Given the description of an element on the screen output the (x, y) to click on. 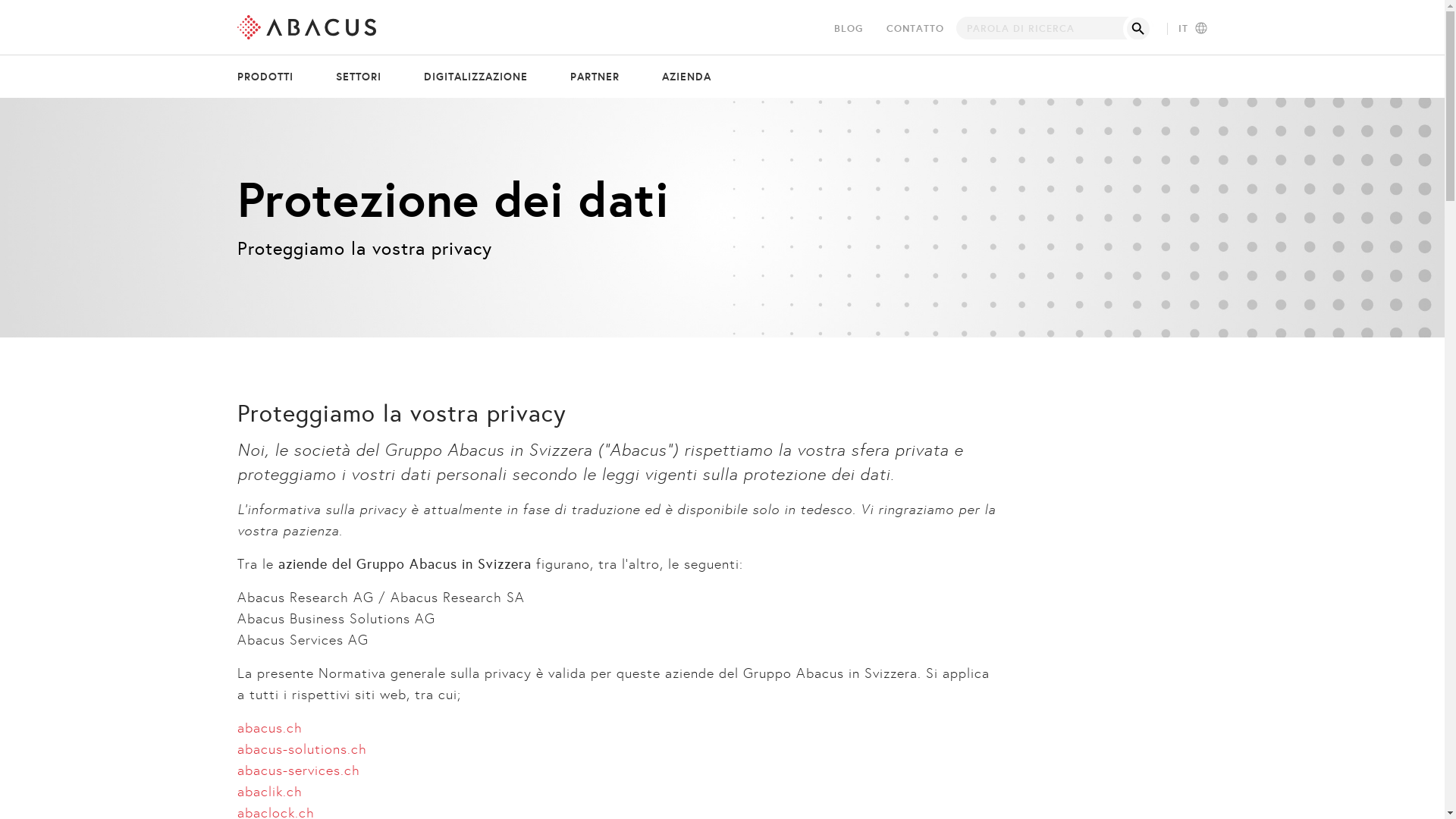
PARTNER Element type: text (593, 76)
abacus-services.ch Element type: text (297, 770)
CONTATTO Element type: text (914, 28)
SETTORI Element type: text (358, 76)
abacus-solutions.ch Element type: text (301, 748)
abacus.ch Element type: text (268, 727)
abaclik.ch Element type: text (268, 791)
AZIENDA Element type: text (677, 76)
BLOG Element type: text (848, 28)
PRODOTTI Element type: text (273, 76)
DIGITALIZZAZIONE Element type: text (475, 76)
Cercare Element type: text (1137, 27)
